Given the description of an element on the screen output the (x, y) to click on. 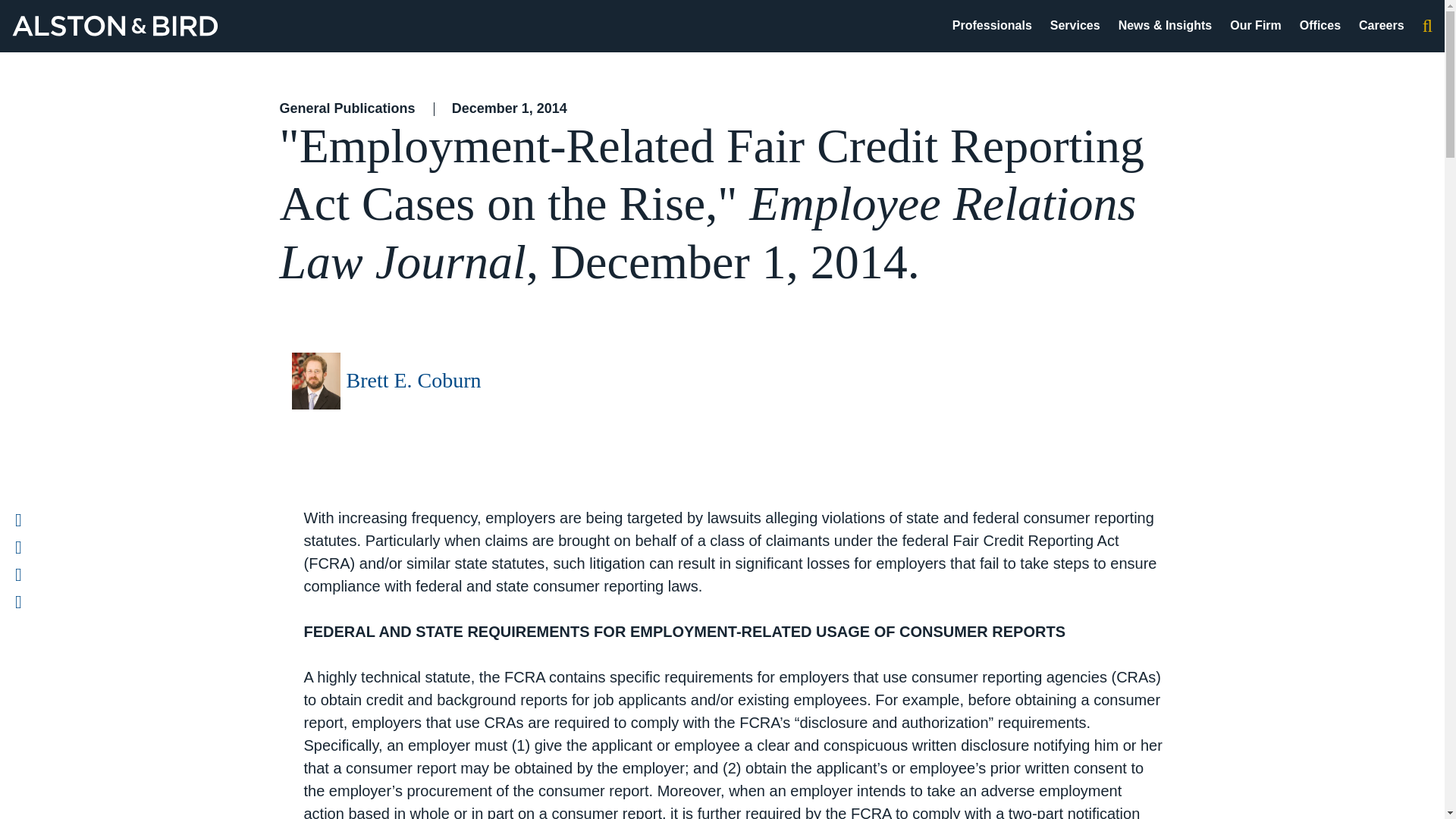
Professionals (992, 24)
Brett E. Coburn (413, 380)
Services (1074, 24)
Careers (1381, 24)
Our Firm (1255, 24)
Offices (1320, 24)
